Given the description of an element on the screen output the (x, y) to click on. 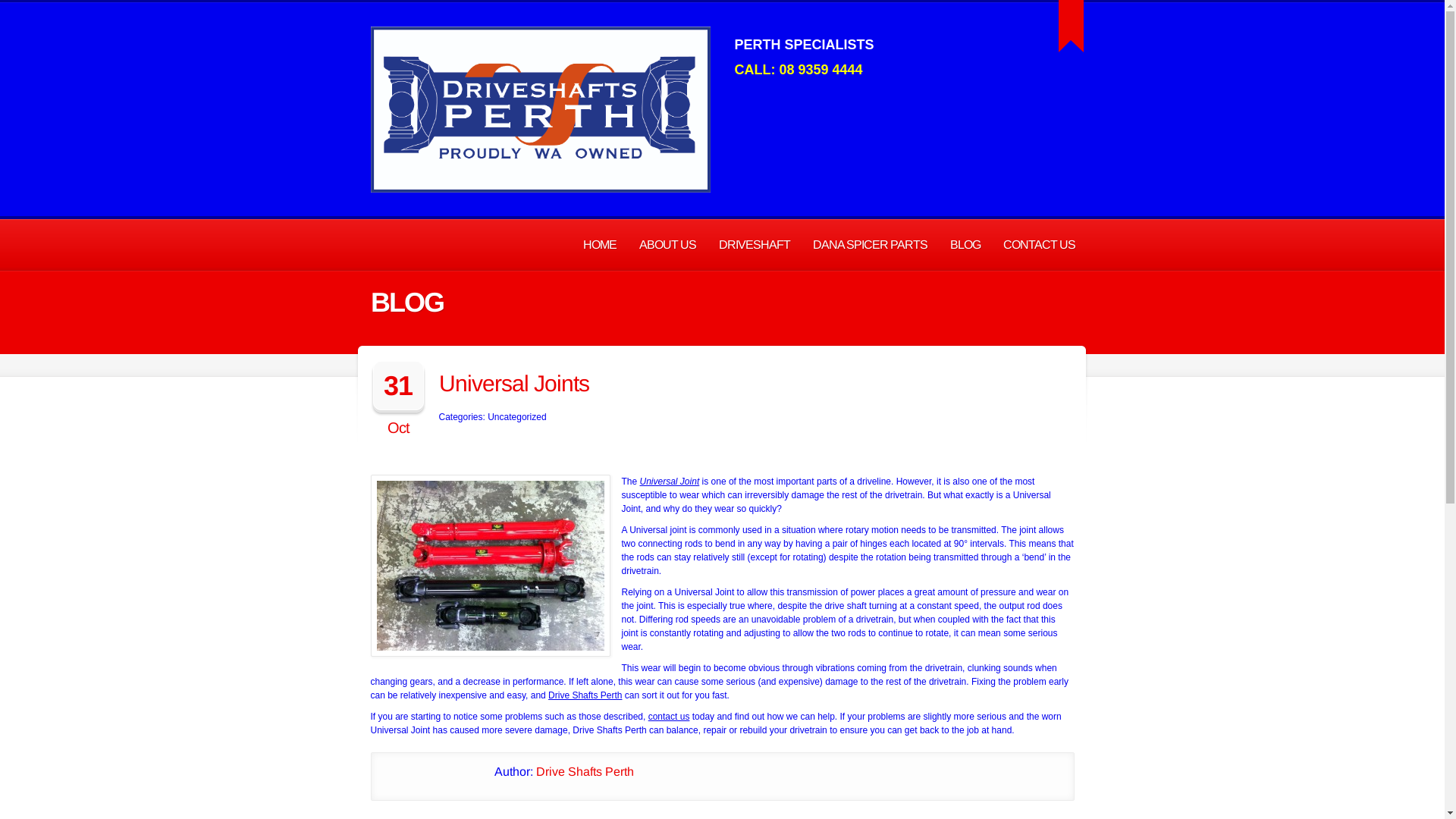
+ Element type: text (1070, 26)
ABOUT US Element type: text (667, 244)
DRIVESHAFT Element type: text (753, 244)
Universal Joint Element type: text (669, 481)
Drive Shafts Perth Element type: text (584, 695)
Universal Joint Element type: hover (489, 565)
CONTACT US Element type: text (1038, 244)
contact us Element type: text (669, 716)
HOME Element type: text (599, 244)
Uncategorized Element type: text (516, 416)
DANA SPICER PARTS Element type: text (869, 244)
BLOG Element type: text (964, 244)
